Given the description of an element on the screen output the (x, y) to click on. 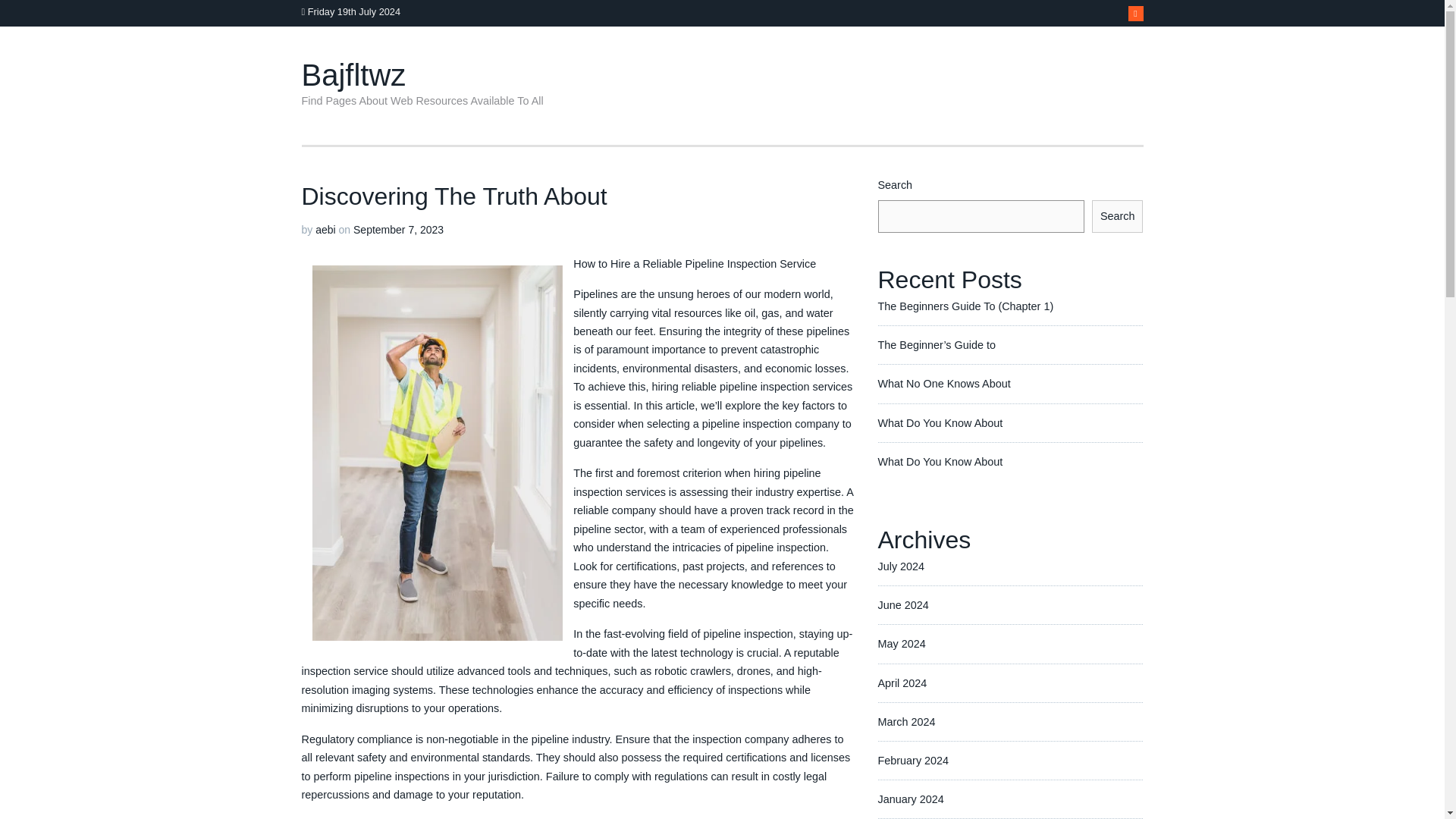
Bajfltwz (353, 74)
March 2024 (906, 721)
April 2024 (902, 682)
June 2024 (902, 604)
What Do You Know About (940, 461)
What No One Knows About (943, 383)
July 2024 (900, 566)
May 2024 (901, 644)
aebi (324, 229)
What Do You Know About (940, 422)
Search (1117, 215)
September 7, 2023 (398, 229)
February 2024 (913, 760)
Bajfltwz (353, 74)
January 2024 (910, 799)
